Given the description of an element on the screen output the (x, y) to click on. 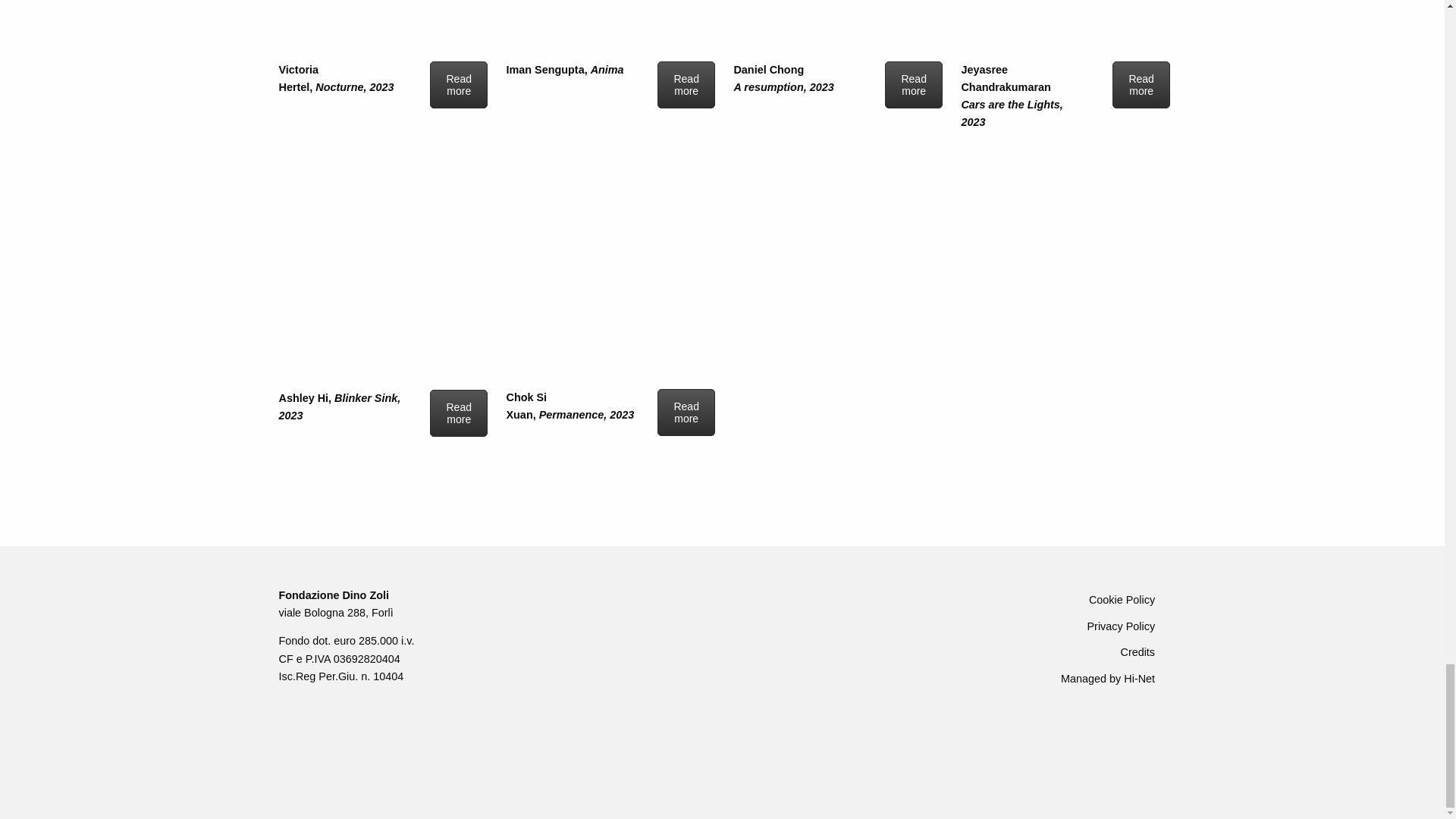
Read more (686, 84)
Read more (913, 84)
Read more (457, 412)
Read more (457, 84)
Read more (1140, 84)
